Given the description of an element on the screen output the (x, y) to click on. 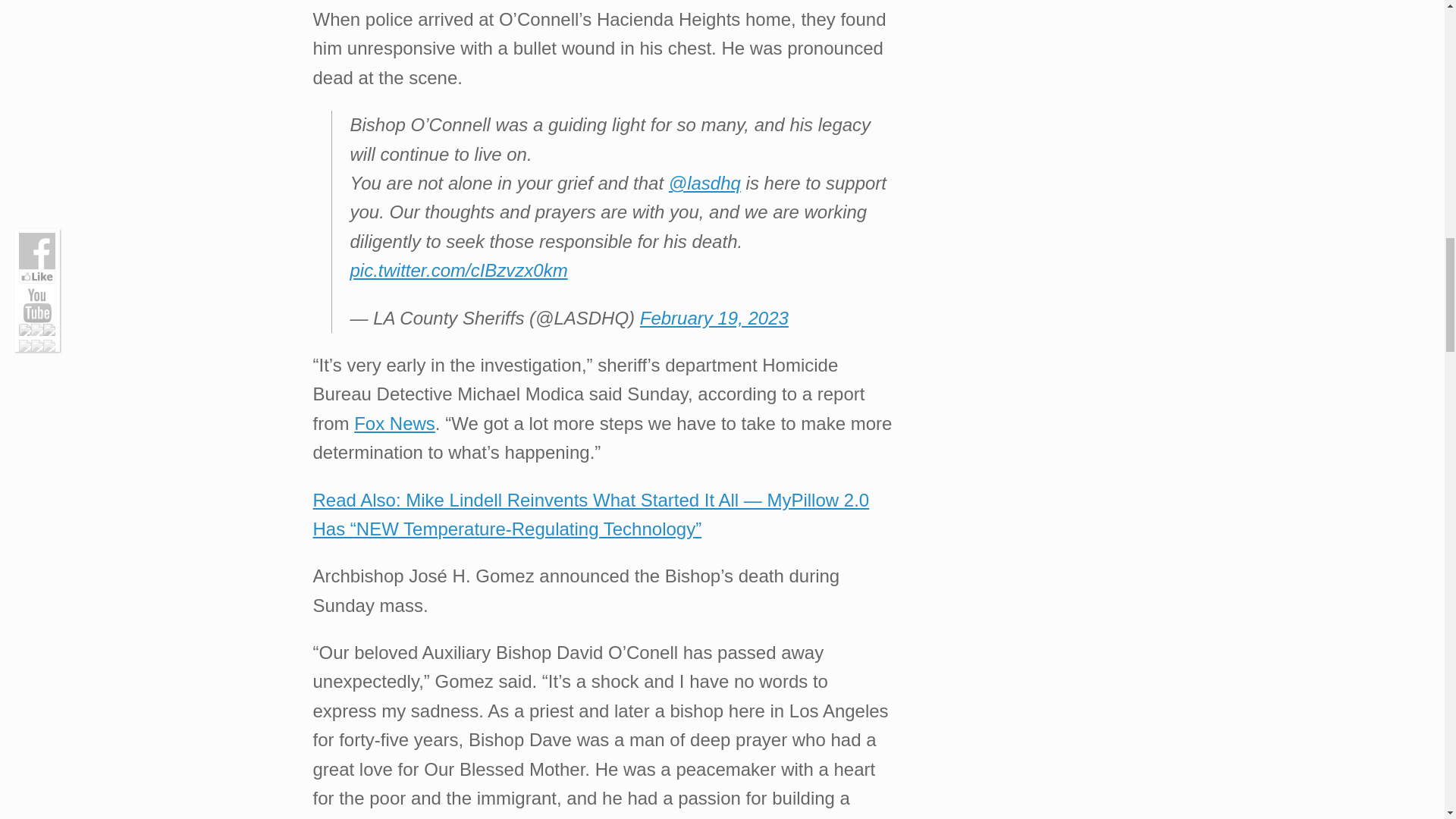
February 19, 2023 (714, 317)
Fox News (394, 423)
